Given the description of an element on the screen output the (x, y) to click on. 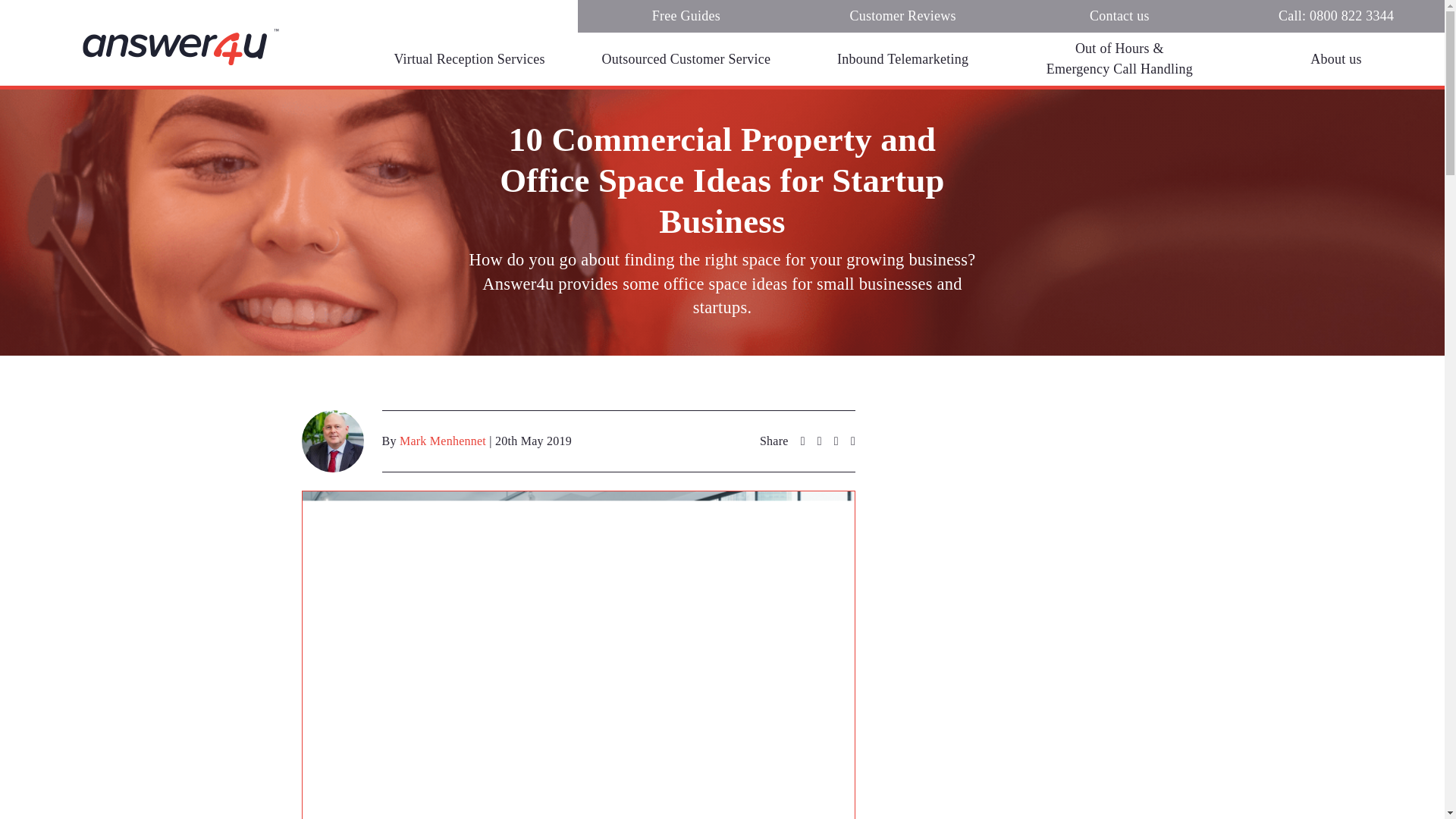
Virtual Reception Services (469, 58)
Free Guides (686, 16)
Outsourced Customer Service (686, 58)
Customer Reviews (902, 16)
Contact us (1119, 16)
